Given the description of an element on the screen output the (x, y) to click on. 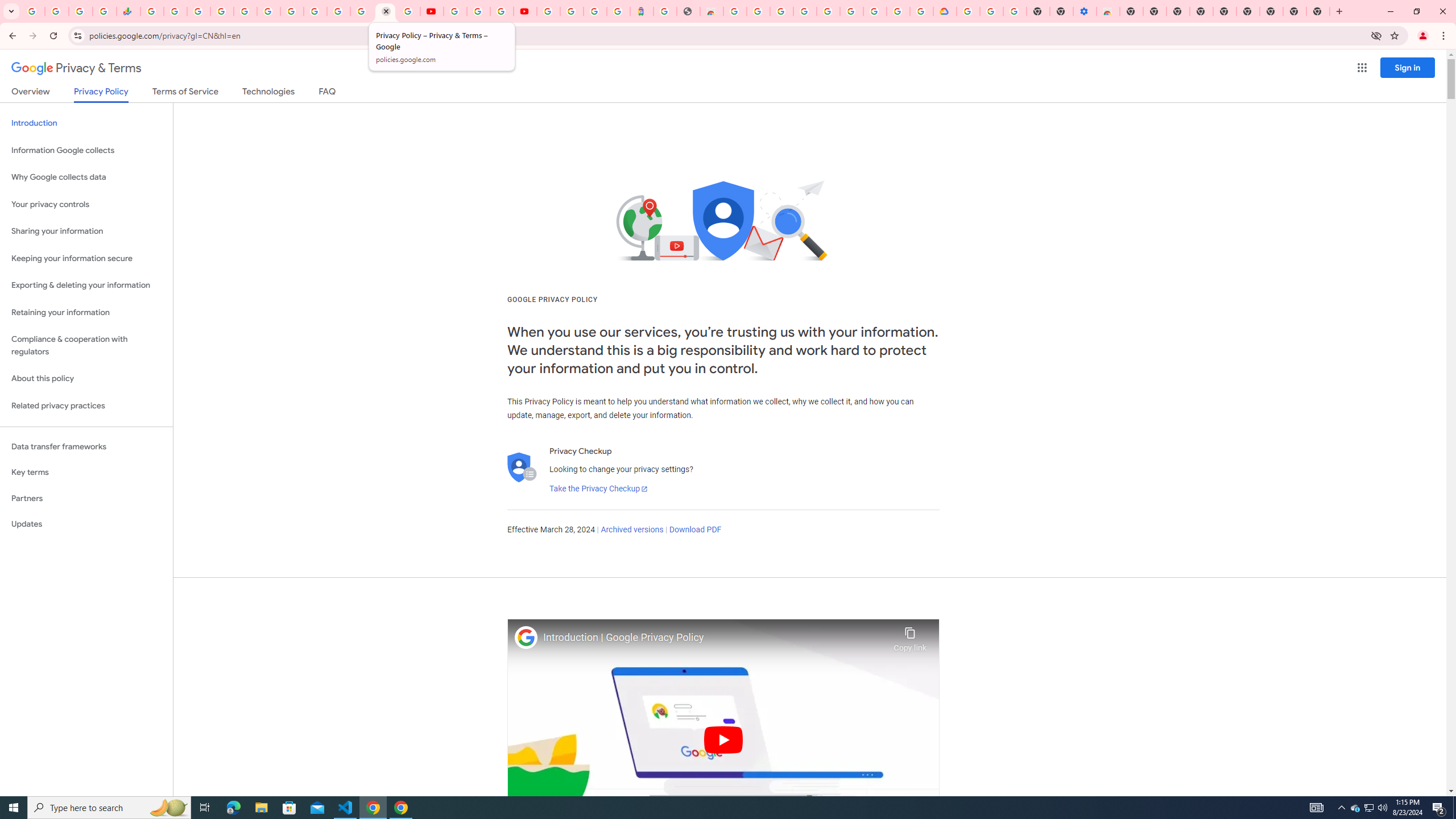
Keeping your information secure (86, 258)
Key terms (86, 472)
Related privacy practices (86, 405)
Create your Google Account (897, 11)
Create your Google Account (757, 11)
Download PDF (695, 529)
Introduction | Google Privacy Policy (715, 637)
YouTube (431, 11)
